Given the description of an element on the screen output the (x, y) to click on. 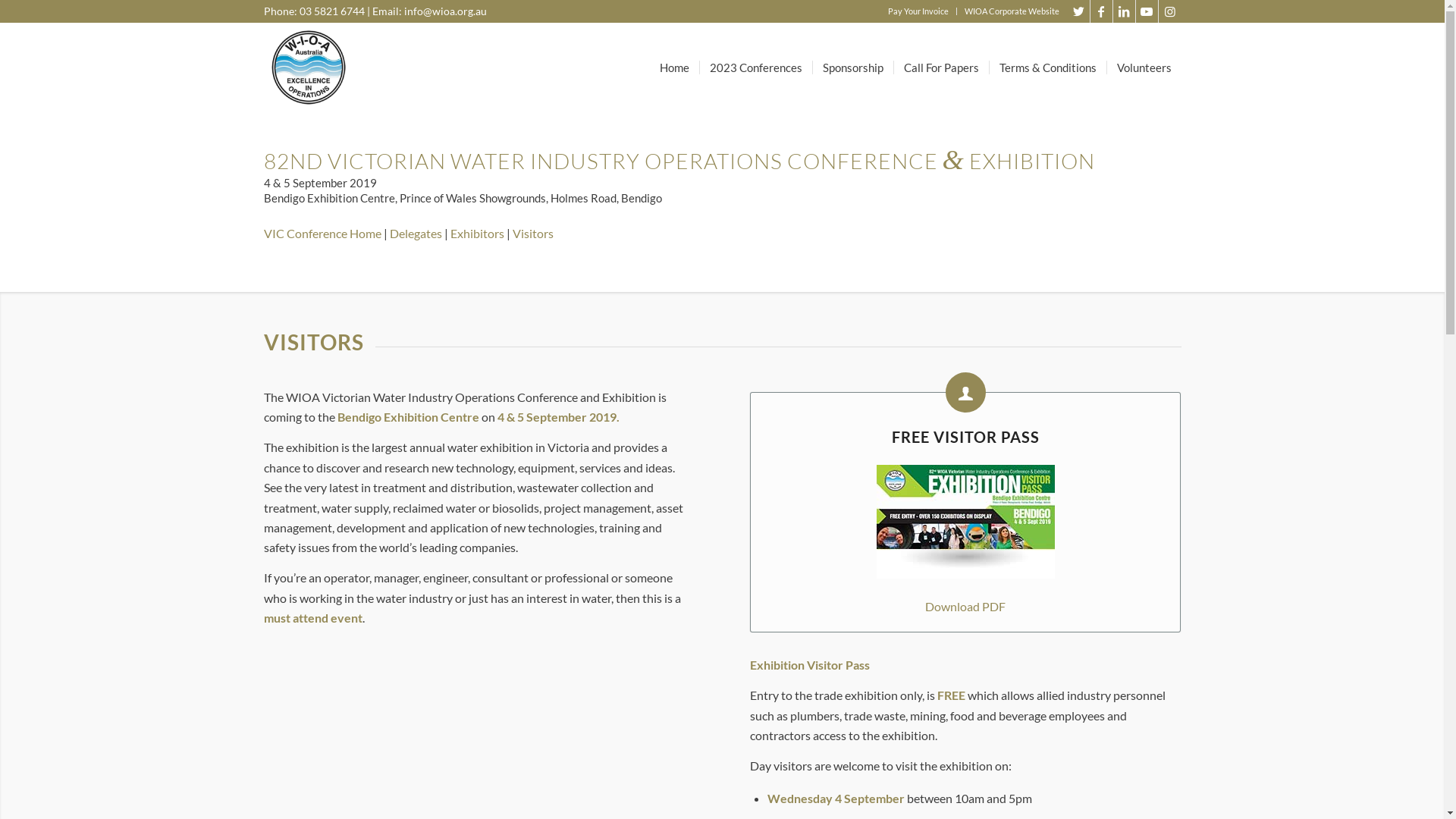
Instagram Element type: hover (1169, 11)
2023 Conferences Element type: text (755, 67)
Call For Papers Element type: text (940, 67)
Sponsorship Element type: text (851, 67)
Volunteers Element type: text (1142, 67)
Pay Your Invoice Element type: text (917, 10)
Facebook Element type: hover (1101, 11)
Youtube Element type: hover (1146, 11)
LinkedIn Element type: hover (1124, 11)
Twitter Element type: hover (1078, 11)
WIOA Corporate Website Element type: text (1011, 10)
Download PDF Element type: text (965, 606)
Exhibitors Element type: text (477, 232)
VIC Conference Home Element type: text (322, 232)
Visitors Element type: text (532, 232)
Home Element type: text (673, 67)
Delegates Element type: text (415, 232)
FREE Visitor Pass Element type: hover (965, 392)
FREE VISITOR PASS Element type: text (965, 436)
Terms & Conditions Element type: text (1047, 67)
